Given the description of an element on the screen output the (x, y) to click on. 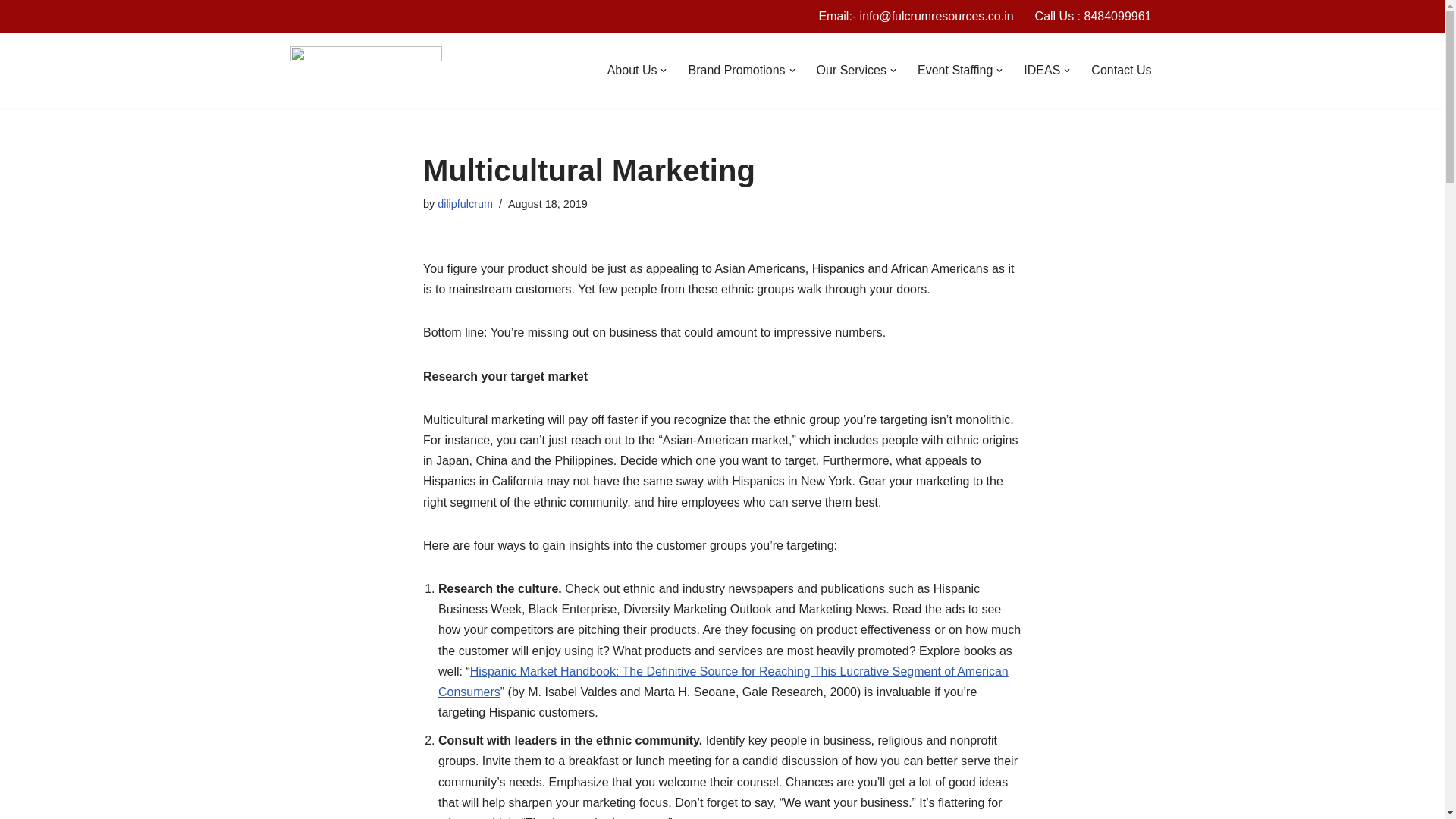
Our Services (851, 69)
Skip to content (11, 31)
Posts by dilipfulcrum (465, 203)
Call Us : 8484099961 (1093, 15)
About Us (632, 69)
Brand Promotions (735, 69)
